Given the description of an element on the screen output the (x, y) to click on. 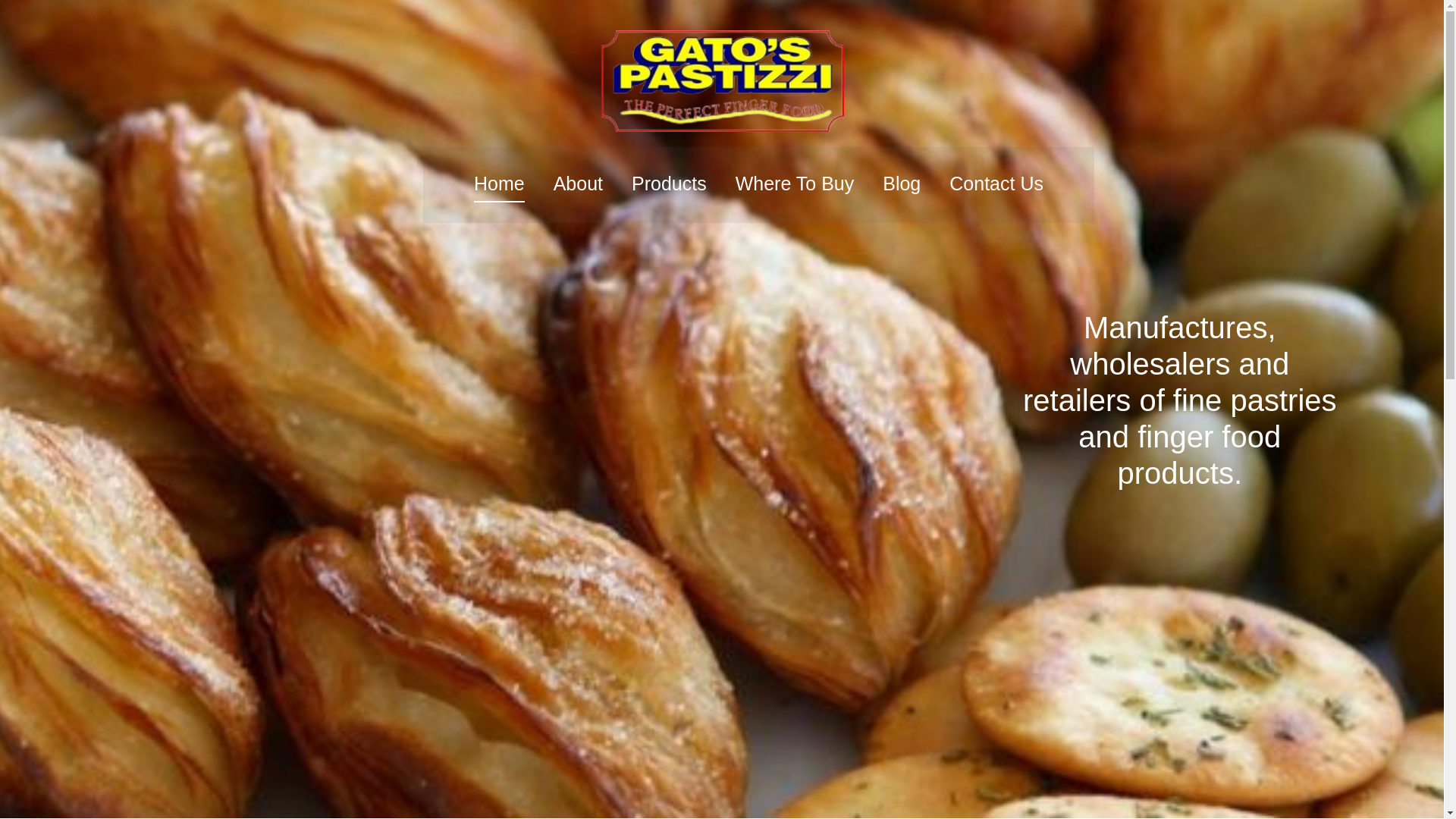
Home Element type: text (498, 184)
YouTube video player 1 Element type: hover (296, 399)
Blog Element type: text (901, 184)
Contact Us Element type: text (996, 184)
About Element type: text (577, 184)
Where To Buy Element type: text (794, 184)
Products Element type: text (668, 184)
